Given the description of an element on the screen output the (x, y) to click on. 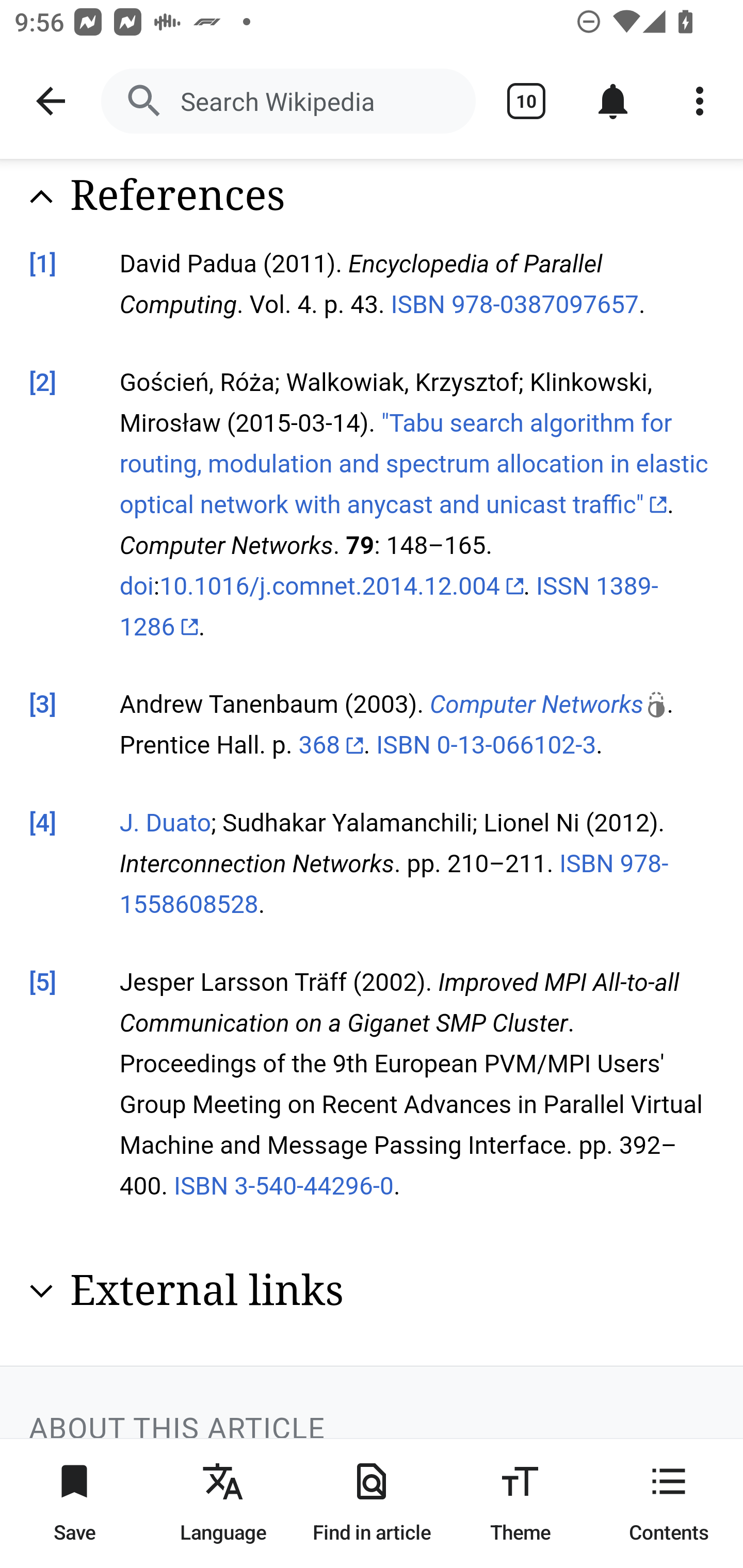
Show tabs 10 (525, 100)
Notifications (612, 100)
Navigate up (50, 101)
More options (699, 101)
Search Wikipedia (288, 100)
Collapse section References (372, 197)
Collapse section (41, 197)
[1] (42, 265)
ISBN (417, 305)
978-0387097657 (543, 305)
[2] (42, 383)
doi (136, 587)
1389-1286 (388, 608)
10.1016/j.comnet.2014.12.004 (341, 587)
ISSN (561, 587)
[3] (42, 706)
Computer Networks (548, 706)
368 (330, 746)
ISBN (403, 746)
0-13-066102-3 (515, 746)
[4] (42, 825)
J. Duato (164, 825)
978-1558608528 (393, 885)
ISBN (585, 865)
[5] (42, 982)
ISBN (200, 1186)
3-540-44296-0 (313, 1186)
Expand section External links (372, 1291)
Expand section (41, 1291)
Save (74, 1502)
Language (222, 1502)
Find in article (371, 1502)
Theme (519, 1502)
Contents (668, 1502)
